Given the description of an element on the screen output the (x, y) to click on. 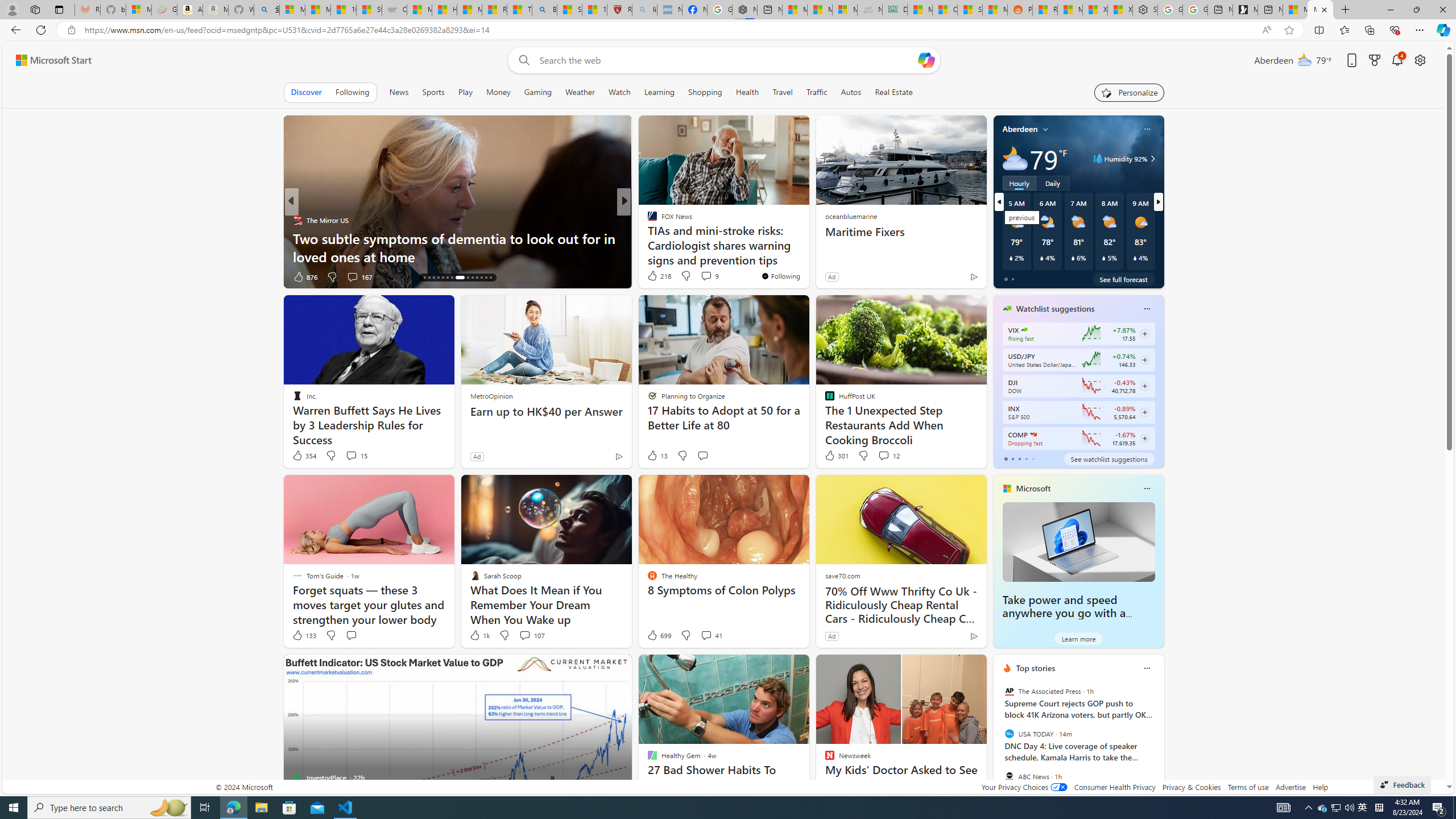
78 Like (652, 276)
AutomationID: tab-16 (428, 277)
Health (746, 92)
699 Like (658, 634)
View comments 12 Comment (883, 455)
View comments 167 Comment (359, 276)
